Given the description of an element on the screen output the (x, y) to click on. 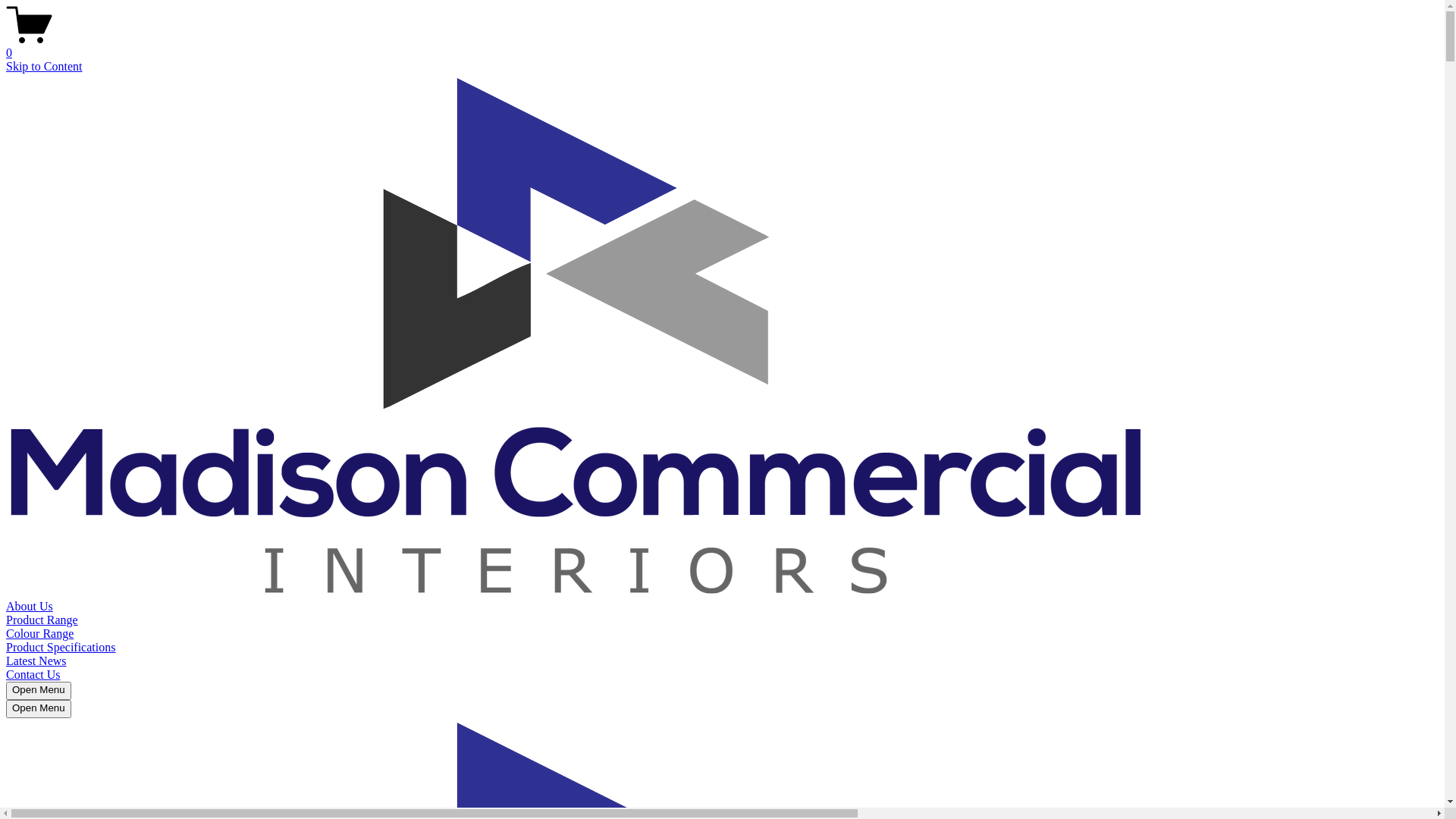
Colour Range Element type: text (39, 633)
About Us Element type: text (29, 605)
Product Range Element type: text (42, 619)
Contact Us Element type: text (33, 674)
Latest News Element type: text (36, 660)
Open Menu Element type: text (38, 708)
Product Specifications Element type: text (60, 646)
Open Menu Element type: text (38, 690)
Skip to Content Element type: text (43, 65)
0 Element type: text (722, 45)
